Given the description of an element on the screen output the (x, y) to click on. 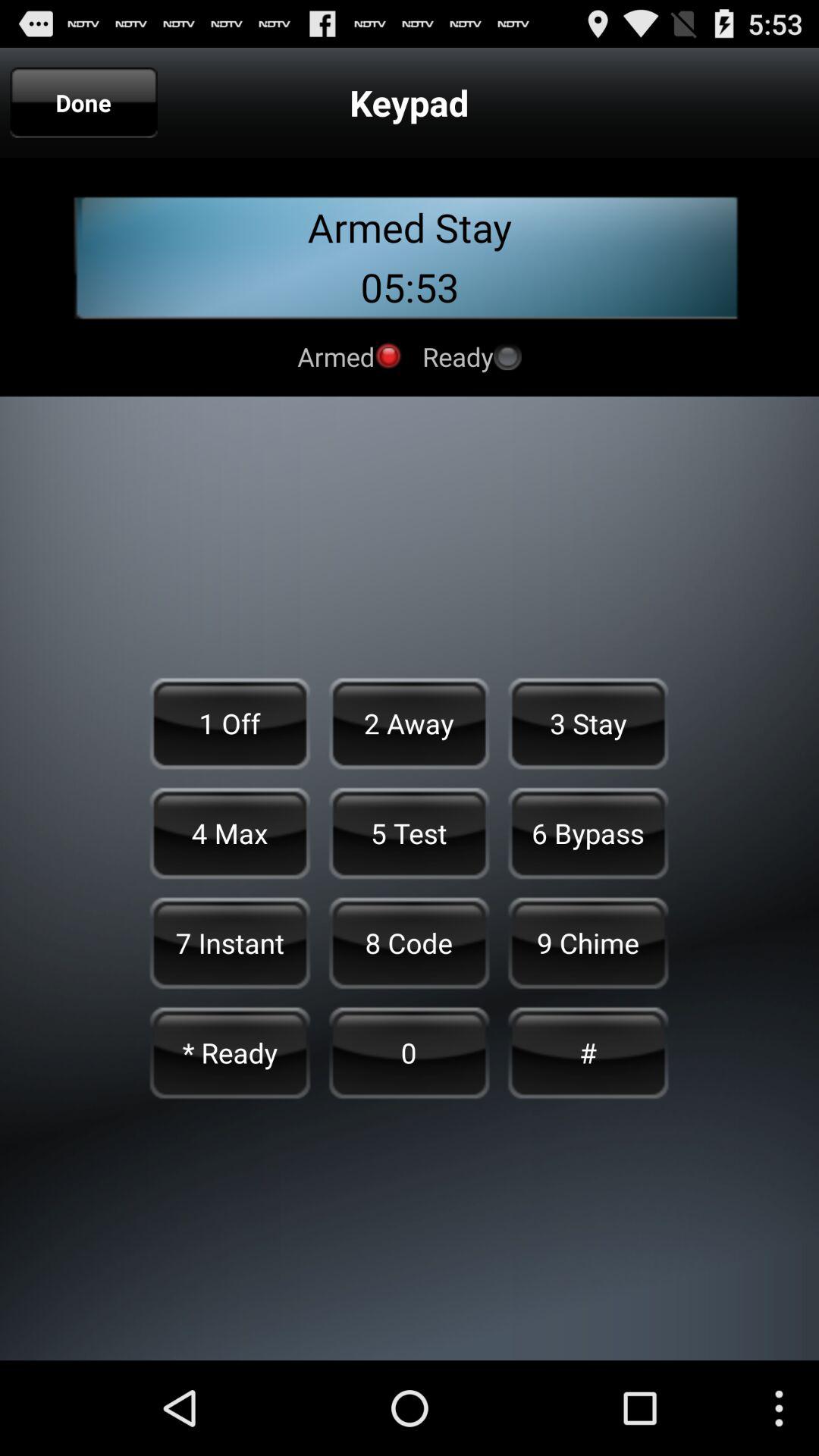
ready status on (507, 356)
